Given the description of an element on the screen output the (x, y) to click on. 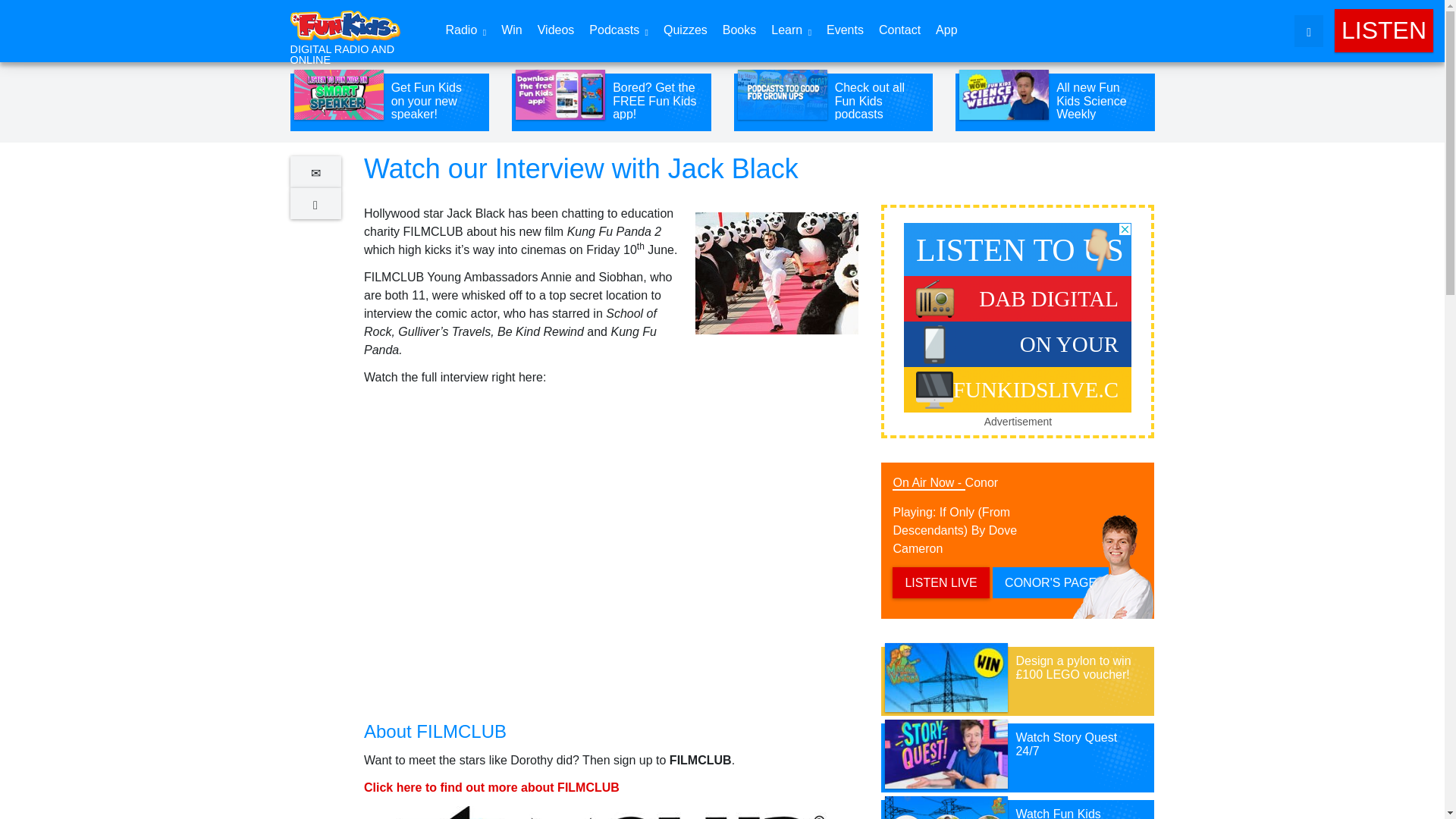
Search (1117, 15)
Podcasts (618, 31)
DIGITAL RADIO AND ONLINE (351, 32)
LISTEN (1383, 30)
Radio (466, 31)
Quizzes (685, 30)
Radio (466, 31)
SEARCH (1308, 30)
Learn (790, 31)
Search (1117, 15)
